Given the description of an element on the screen output the (x, y) to click on. 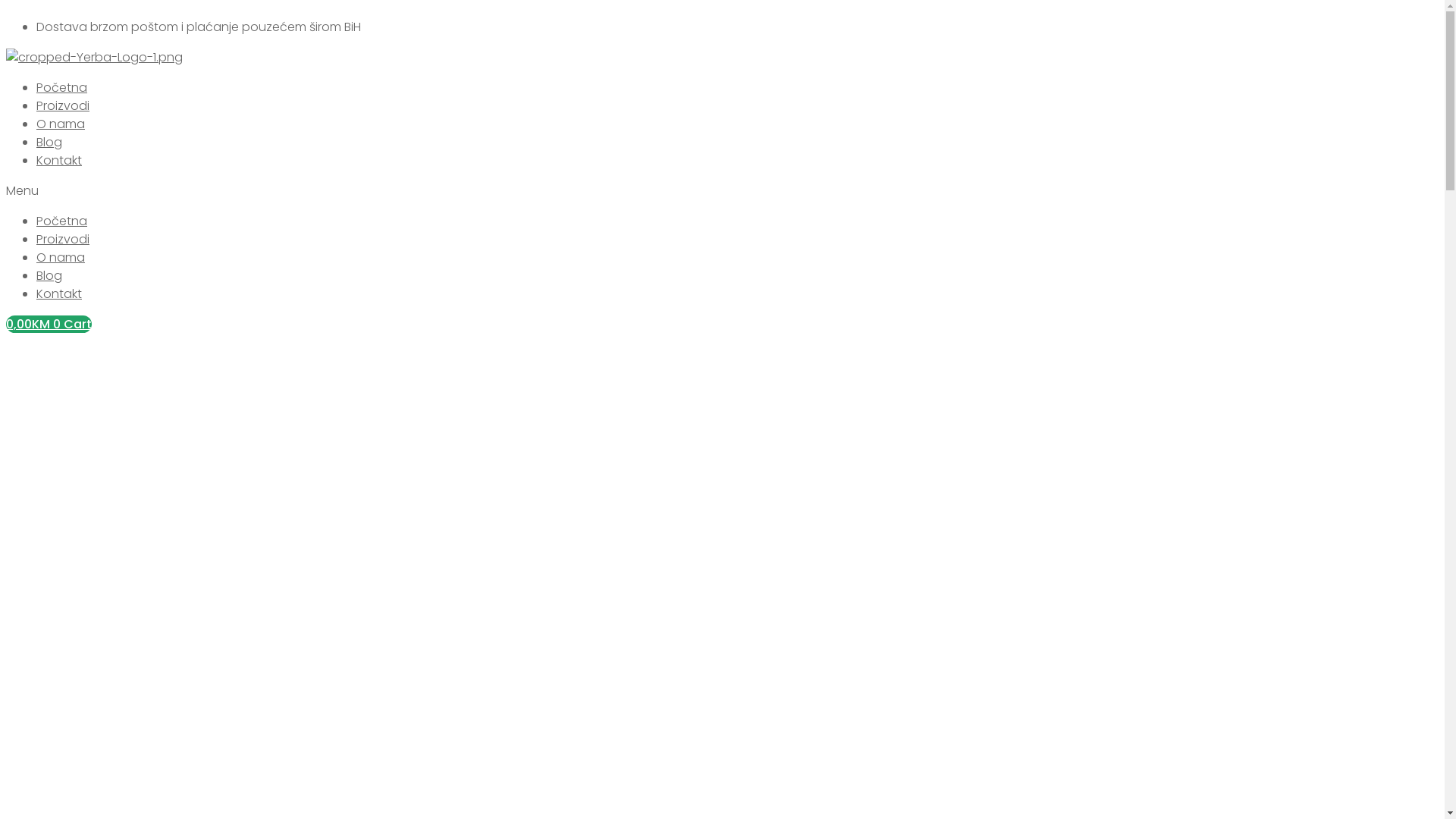
Blog Element type: text (49, 275)
O nama Element type: text (60, 123)
0,00KM 0 Cart Element type: text (48, 323)
O nama Element type: text (60, 257)
Kontakt Element type: text (58, 160)
Kontakt Element type: text (58, 293)
Proizvodi Element type: text (62, 238)
cropped-Yerba-Logo-1.png Element type: hover (94, 57)
Proizvodi Element type: text (62, 105)
Blog Element type: text (49, 141)
Skip to content Element type: text (5, 5)
